Given the description of an element on the screen output the (x, y) to click on. 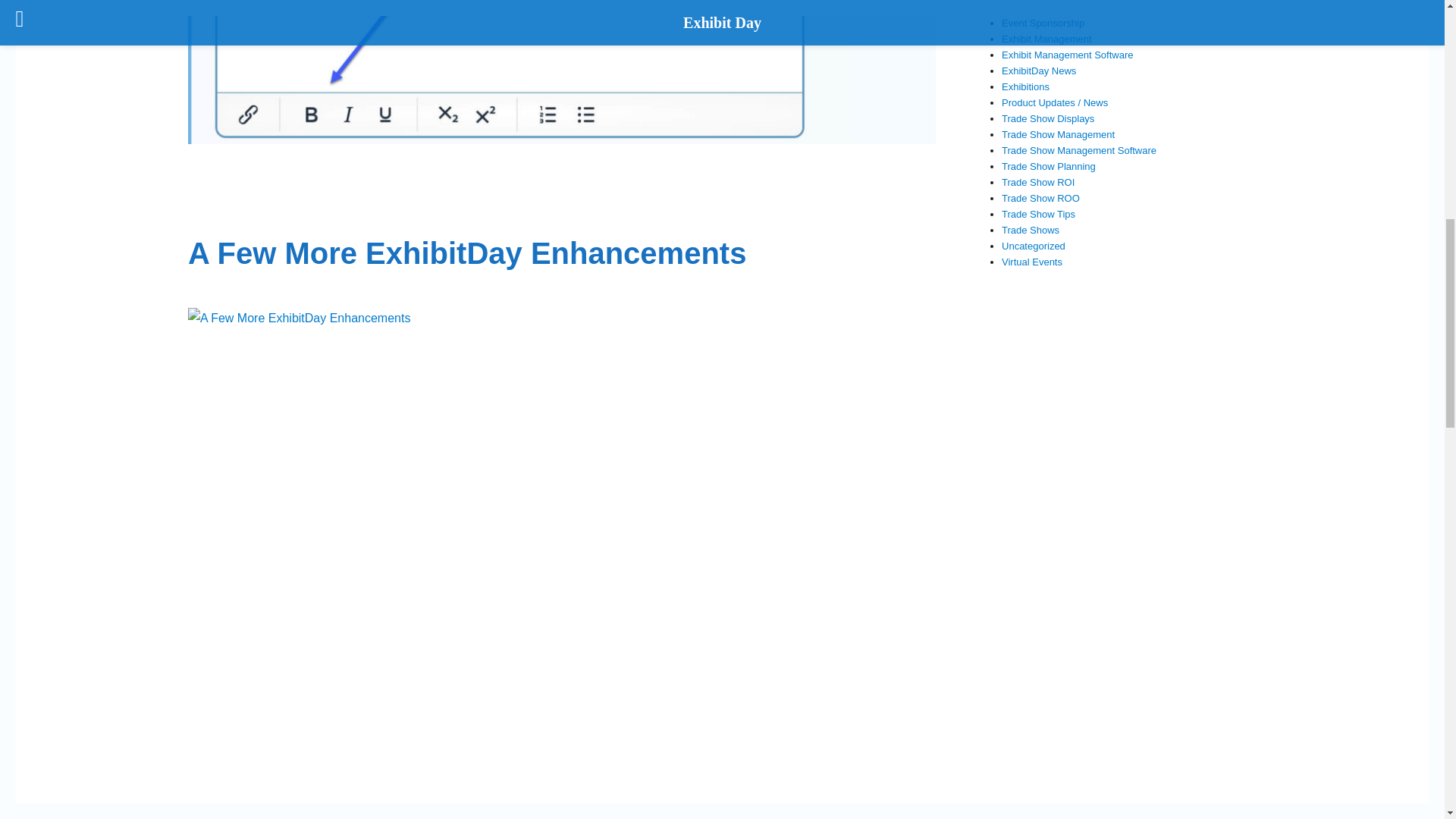
WYSIWYG Rich Text Editor Event Notes (561, 72)
ExhibitDay (560, 817)
A Few More ExhibitDay Enhancements (466, 253)
